Given the description of an element on the screen output the (x, y) to click on. 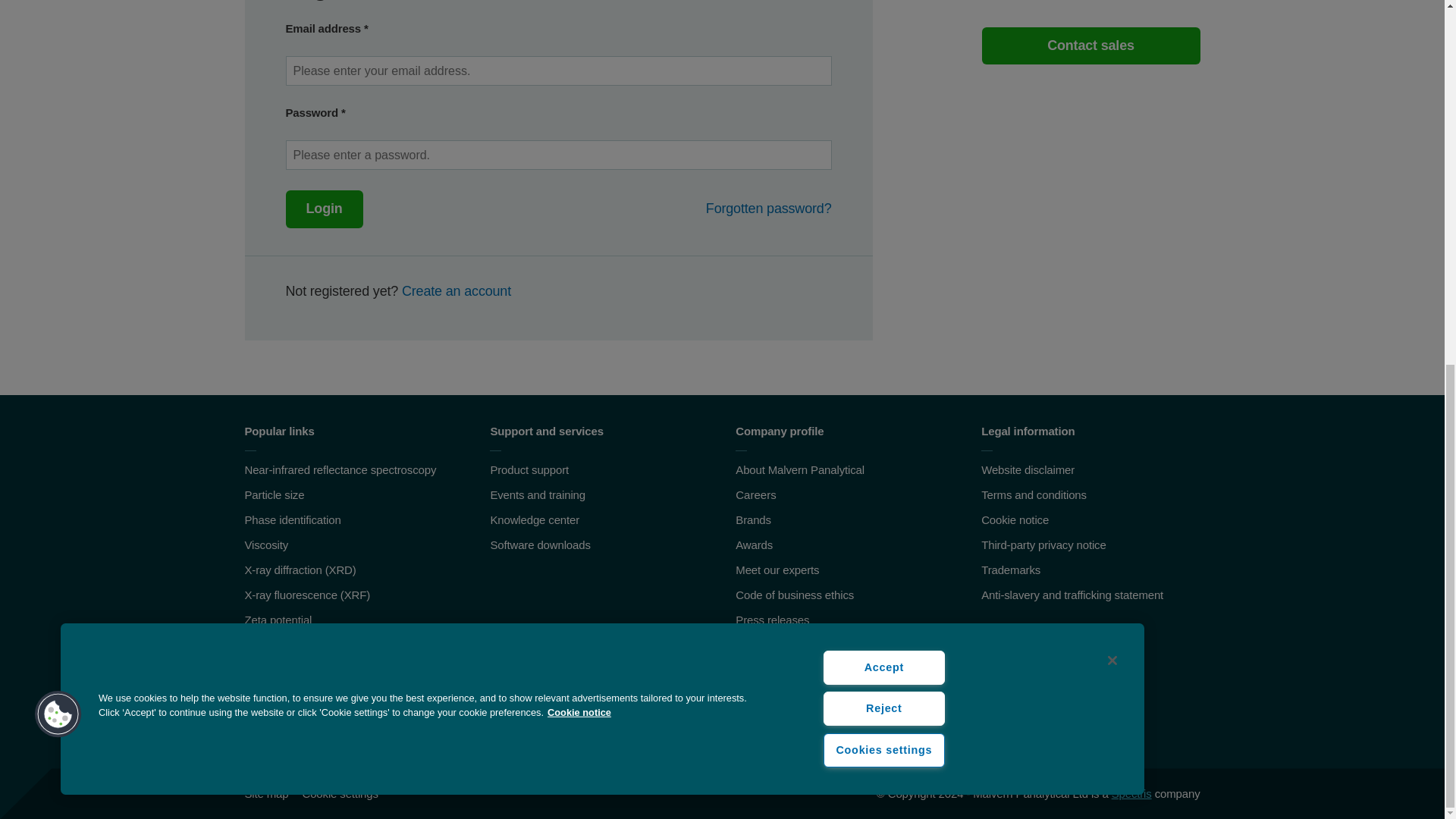
Software downloads (539, 544)
Events and training (537, 494)
Awards (754, 544)
Press releases (772, 619)
Knowledge center (534, 519)
Knowledge Centre (534, 519)
Meet our experts (776, 569)
Create an account (456, 290)
Forgotten password? (768, 208)
Login (323, 209)
Product support (529, 469)
Brands (753, 519)
Press releases (772, 619)
Cookies Button (57, 60)
Website disclaimer (1027, 469)
